Given the description of an element on the screen output the (x, y) to click on. 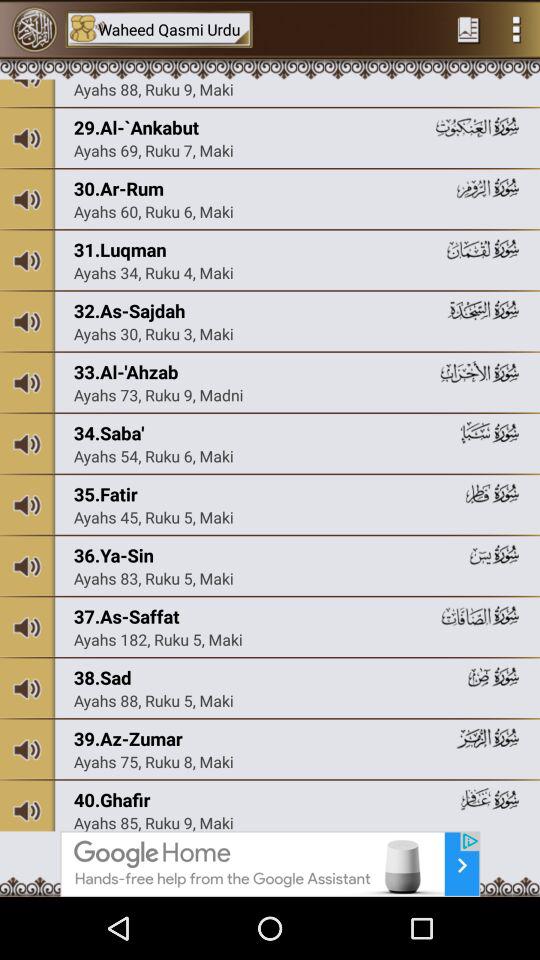
advetisement link (270, 864)
